Given the description of an element on the screen output the (x, y) to click on. 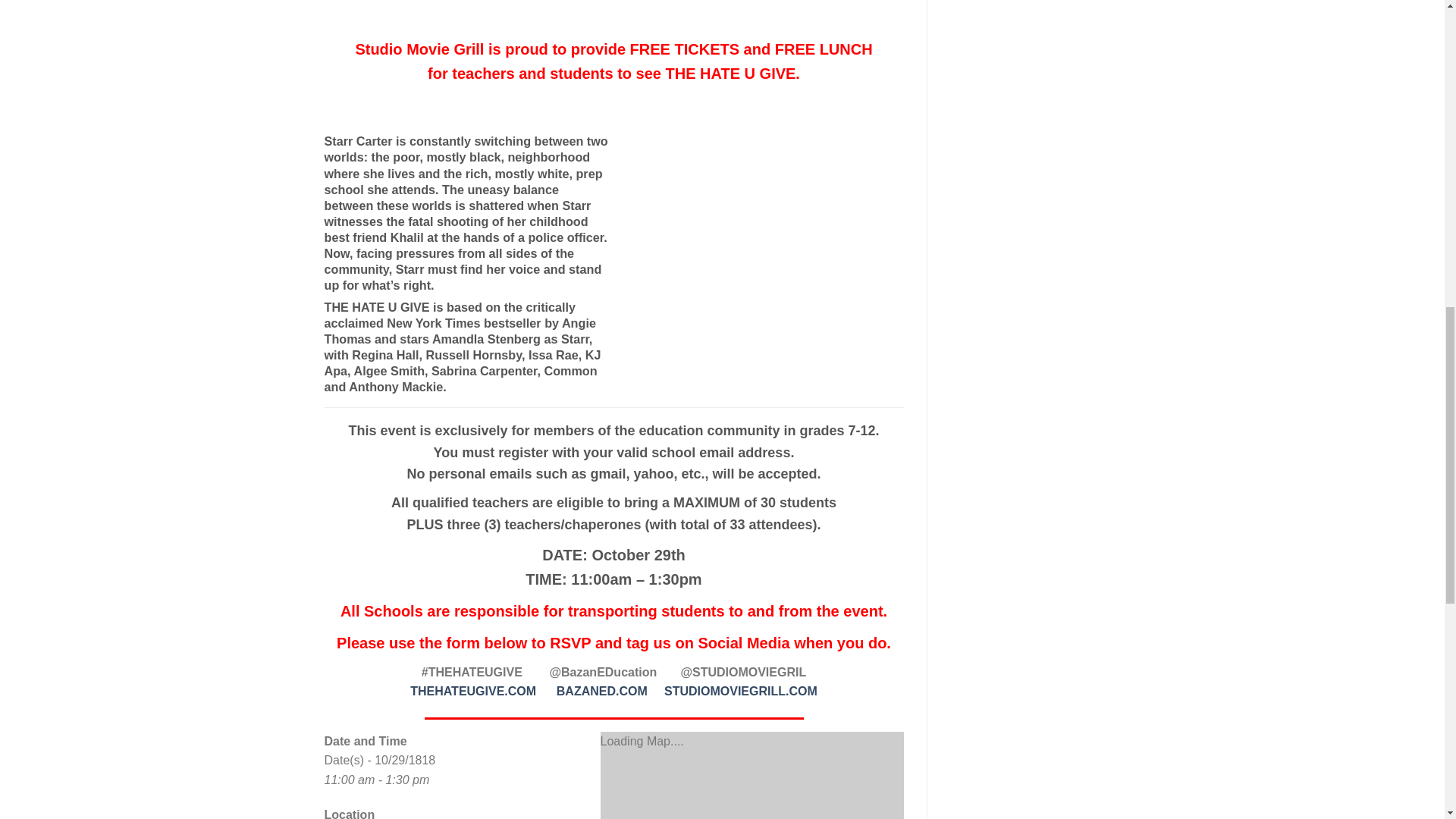
BAZANED.COM (601, 690)
STUDIOMOVIEGRILL.COM (739, 690)
THEHATEUGIVE.COM (472, 690)
